Given the description of an element on the screen output the (x, y) to click on. 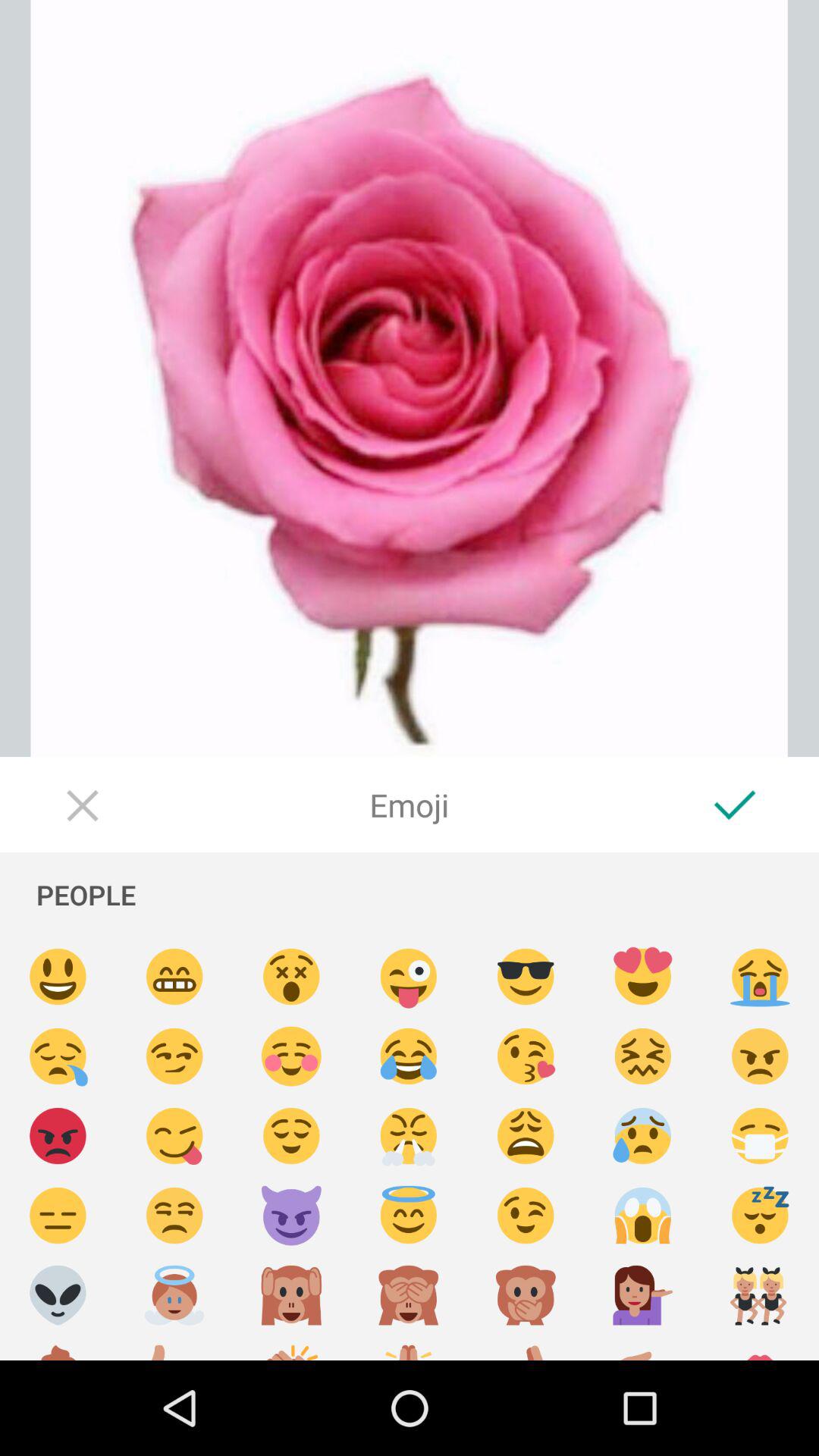
insert sleeping emoji (760, 1215)
